Given the description of an element on the screen output the (x, y) to click on. 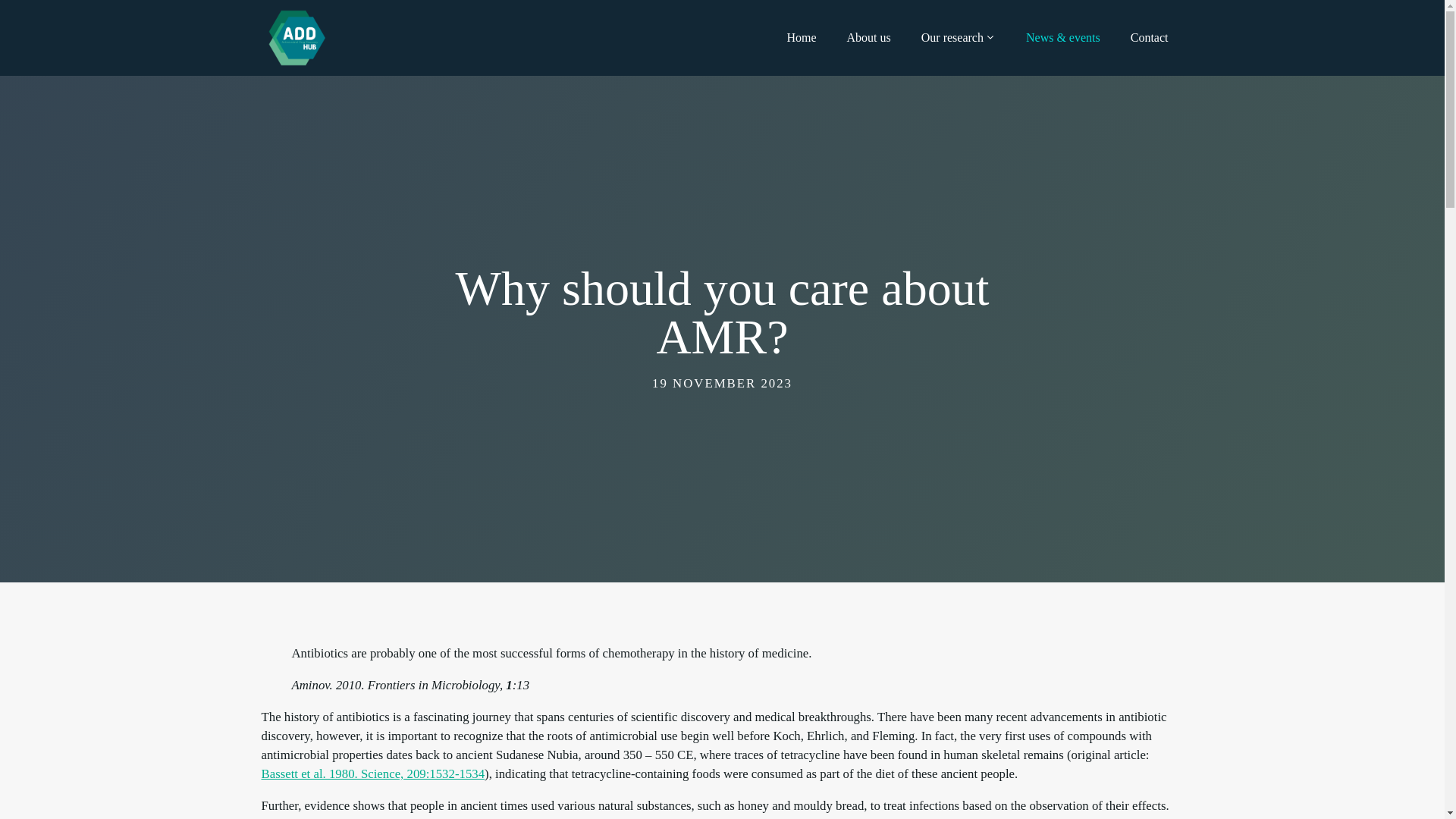
About us (869, 37)
Bassett et al. 1980. Science, 209:1532-1534 (372, 773)
Home (801, 37)
Contact (1149, 37)
Our research (958, 37)
